Given the description of an element on the screen output the (x, y) to click on. 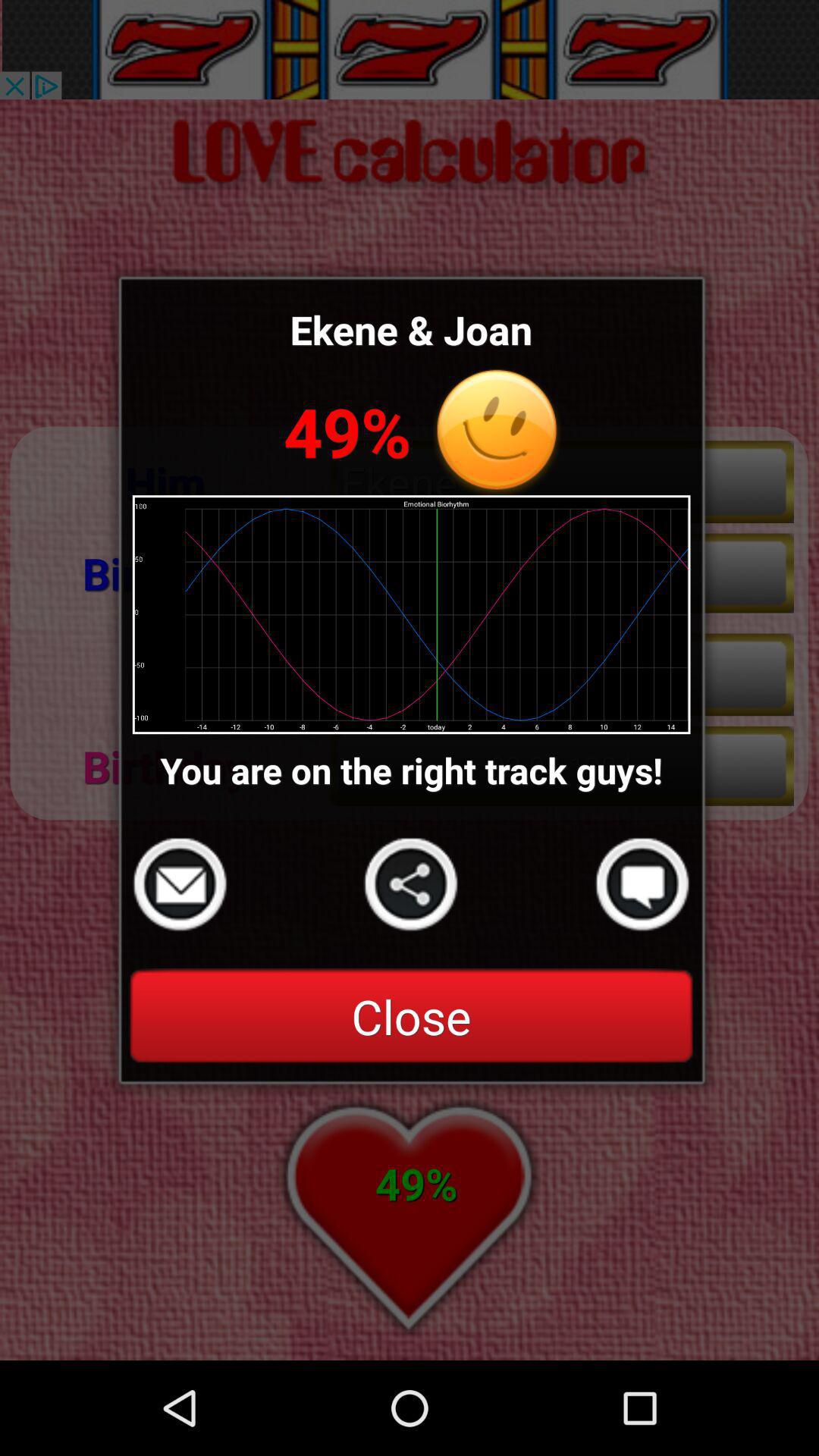
send a message (180, 884)
